Given the description of an element on the screen output the (x, y) to click on. 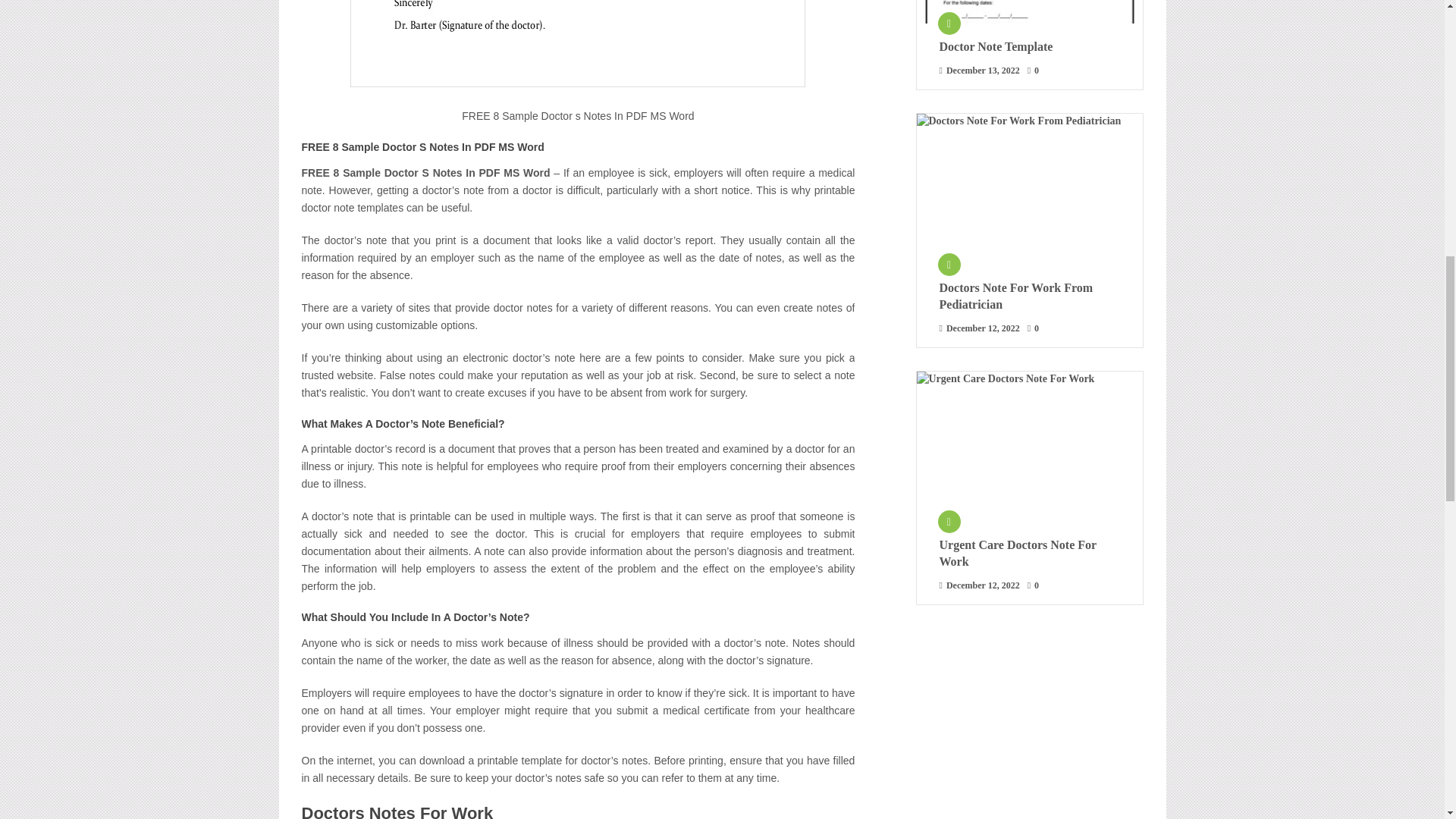
Doctors Note For Work From Pediatrician (1029, 296)
Doctor Note Template (1028, 11)
Doctors Note For Work From Pediatrician (1028, 188)
Urgent Care Doctors Note For Work (1029, 553)
Doctor Note Template (1029, 46)
Doctors Note For Work From Pediatrician (1029, 296)
Doctor Note Template (1029, 46)
